Given the description of an element on the screen output the (x, y) to click on. 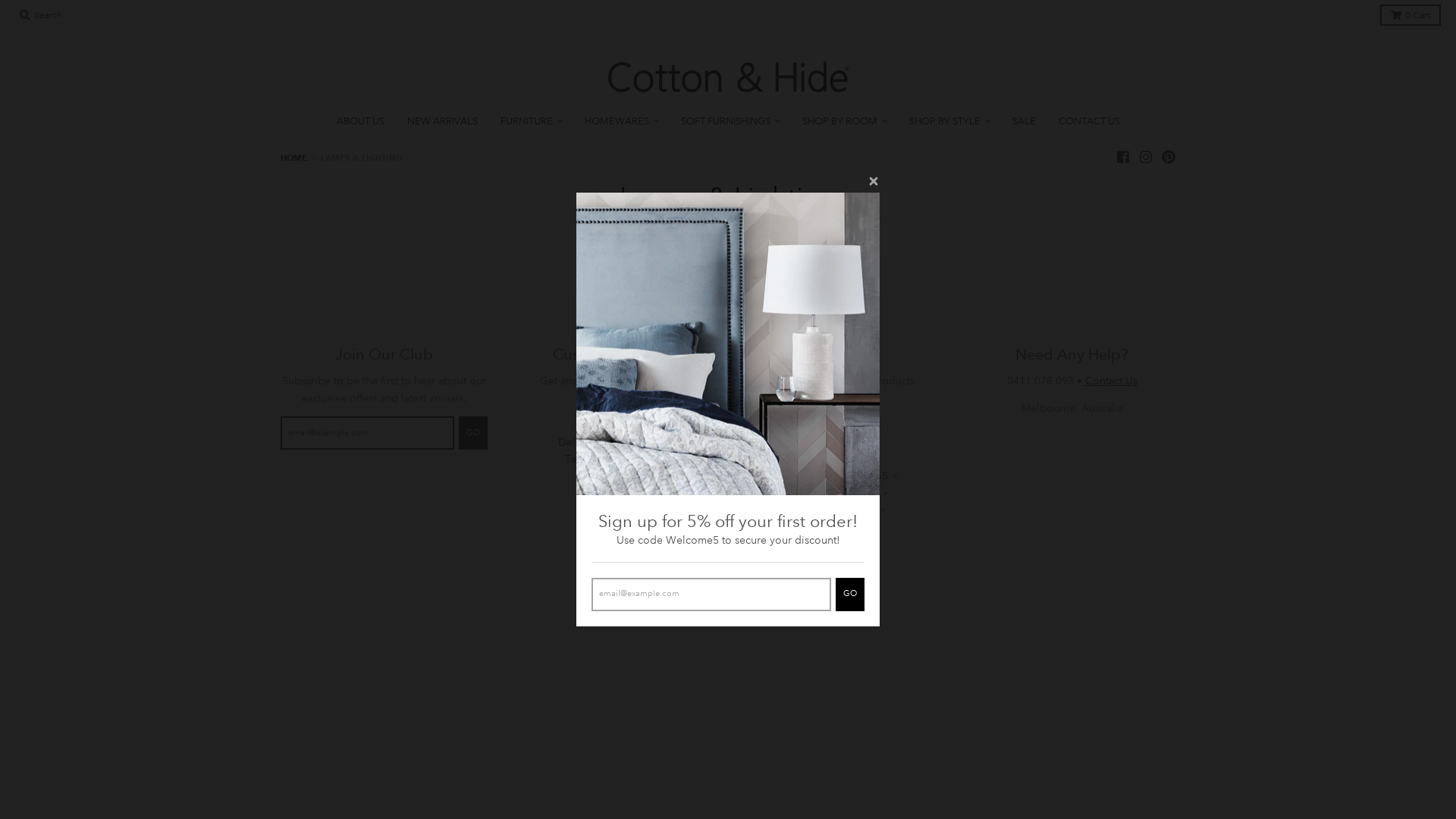
Search Element type: text (612, 407)
Pinterest - Cotton & Hide Element type: hover (1168, 156)
ABOUT US Element type: text (359, 121)
SOFT FURNISHINGS Element type: text (842, 475)
SHOP BY ROOM Element type: text (842, 492)
Powered by Shopify Element type: text (727, 588)
Search Element type: text (40, 14)
FURNITURE Element type: text (842, 441)
0 Cart Element type: text (1410, 14)
Contact Us Element type: text (612, 509)
SALE Element type: text (842, 526)
Afterpay Element type: text (613, 526)
SOFT FURNISHINGS Element type: text (729, 121)
Facebook - Cotton & Hide Element type: hover (1122, 156)
CONTACT US Element type: text (842, 543)
SHOP BY STYLE Element type: text (949, 121)
FURNITURE Element type: text (530, 121)
ABOUT US Element type: text (842, 407)
Careers & Jobs Element type: text (613, 492)
HOME Element type: text (293, 157)
Terms & Conditions Element type: text (613, 458)
SALE Element type: text (1023, 121)
HOMEWARES Element type: text (621, 121)
HOMEWARES Element type: text (842, 458)
Delivery and Shipping Element type: text (613, 441)
Privacy Policy Element type: text (613, 424)
Instagram - Cotton & Hide Element type: hover (1145, 156)
NEW ARRIVALS Element type: text (442, 121)
NEW ARRIVALS Element type: text (842, 424)
SHOP BY STYLE Element type: text (842, 509)
GO Element type: text (849, 594)
Cotton & Hide Element type: text (748, 570)
CONTACT US Element type: text (1088, 121)
GO Element type: text (472, 432)
Refund Policy Element type: text (613, 475)
Contact Us Element type: text (1111, 380)
SHOP BY ROOM Element type: text (843, 121)
